Given the description of an element on the screen output the (x, y) to click on. 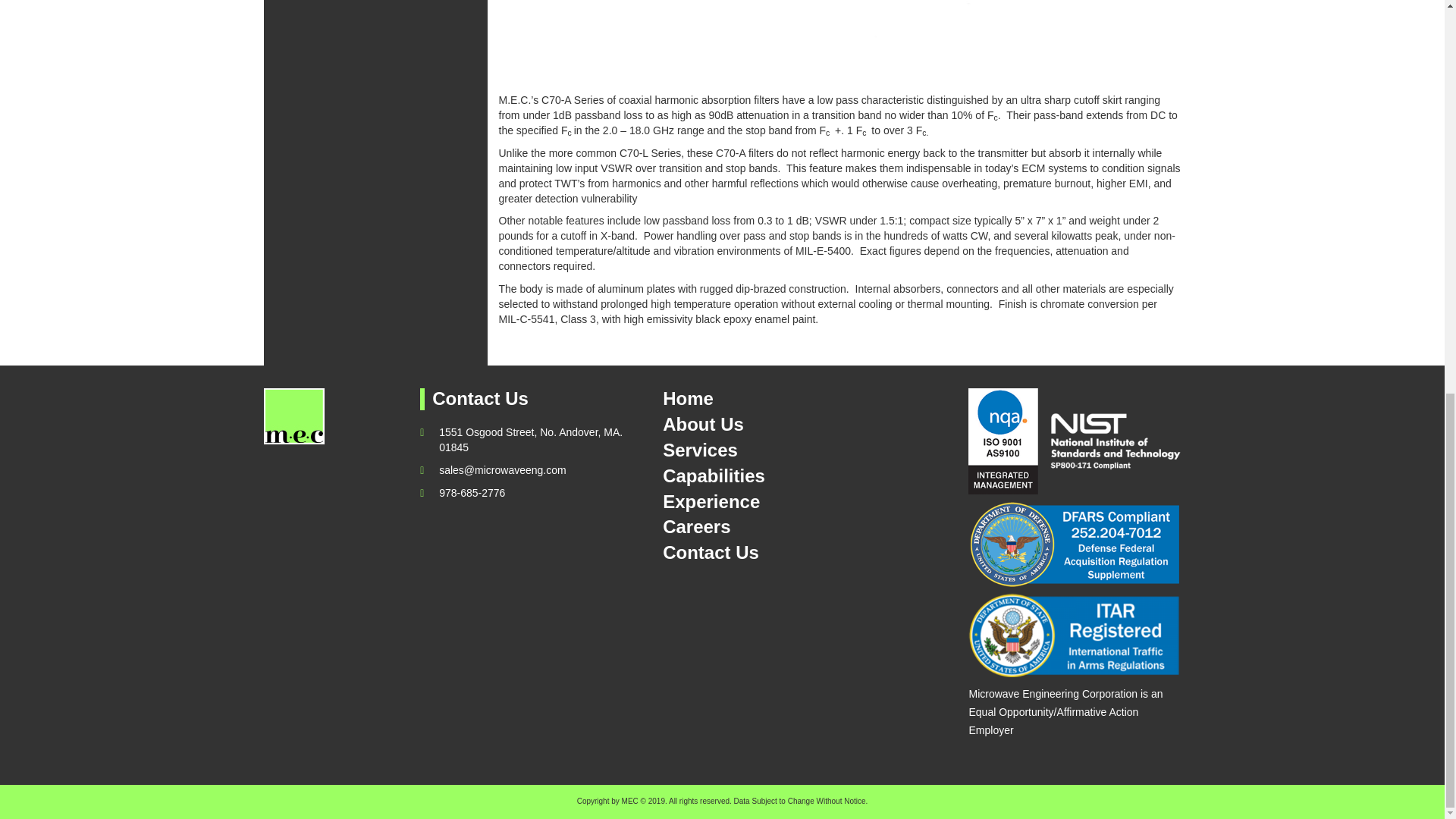
Capabilities (761, 476)
About Us (761, 424)
Careers (761, 527)
Services (761, 450)
Home (761, 399)
Experience (761, 502)
